Given the description of an element on the screen output the (x, y) to click on. 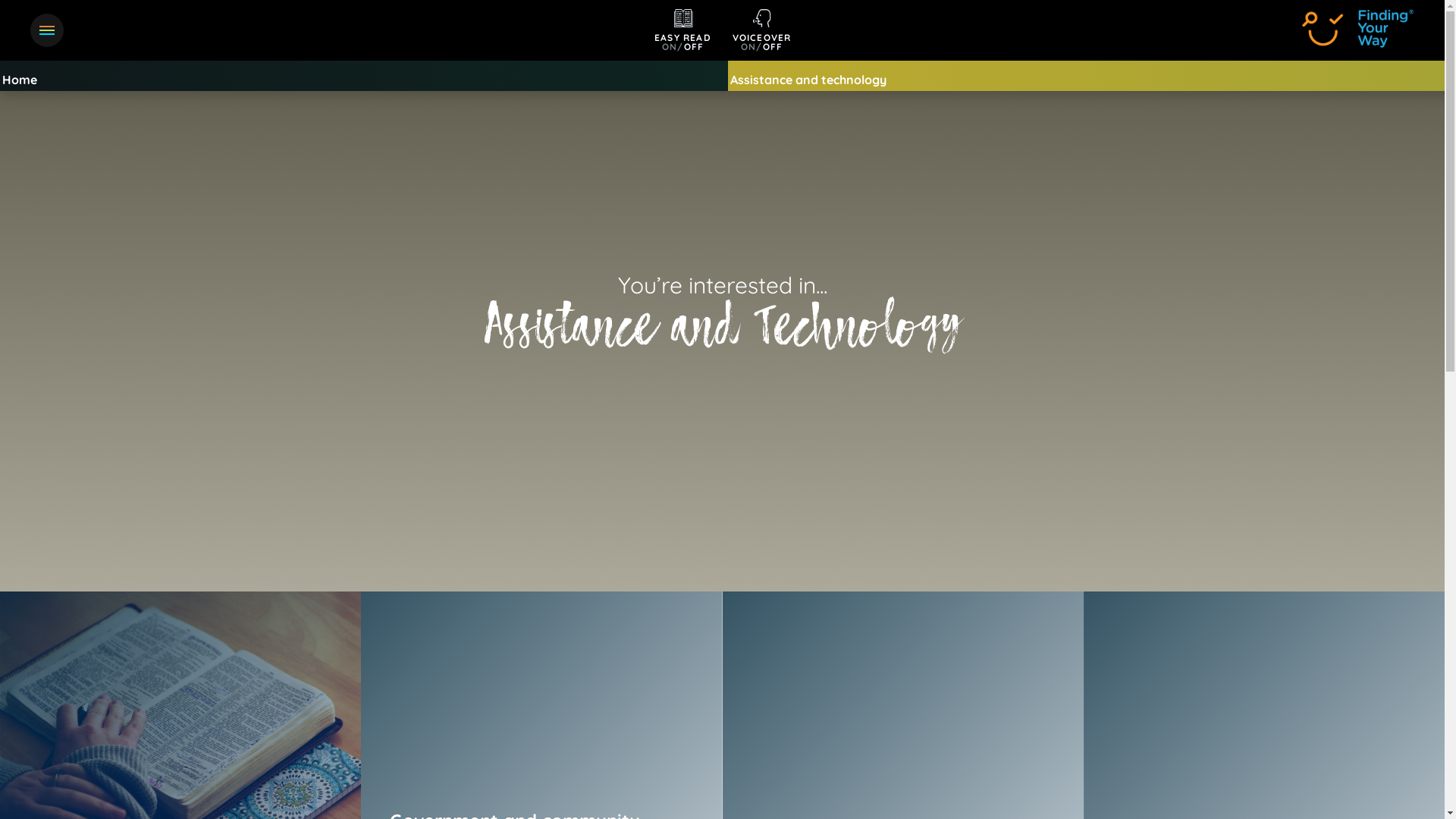
Home Element type: text (364, 45)
